Given the description of an element on the screen output the (x, y) to click on. 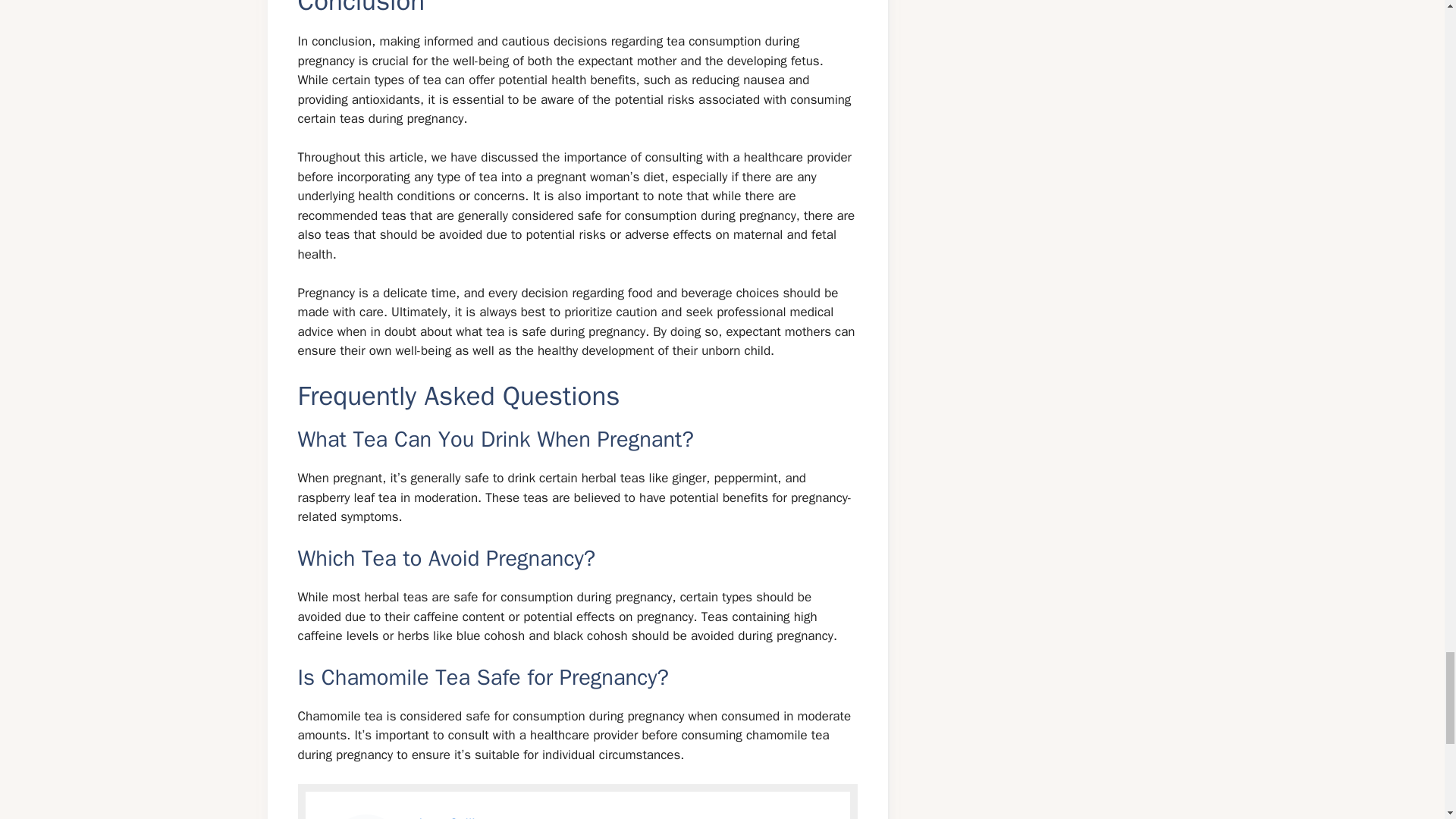
Irma Collins (454, 816)
